Given the description of an element on the screen output the (x, y) to click on. 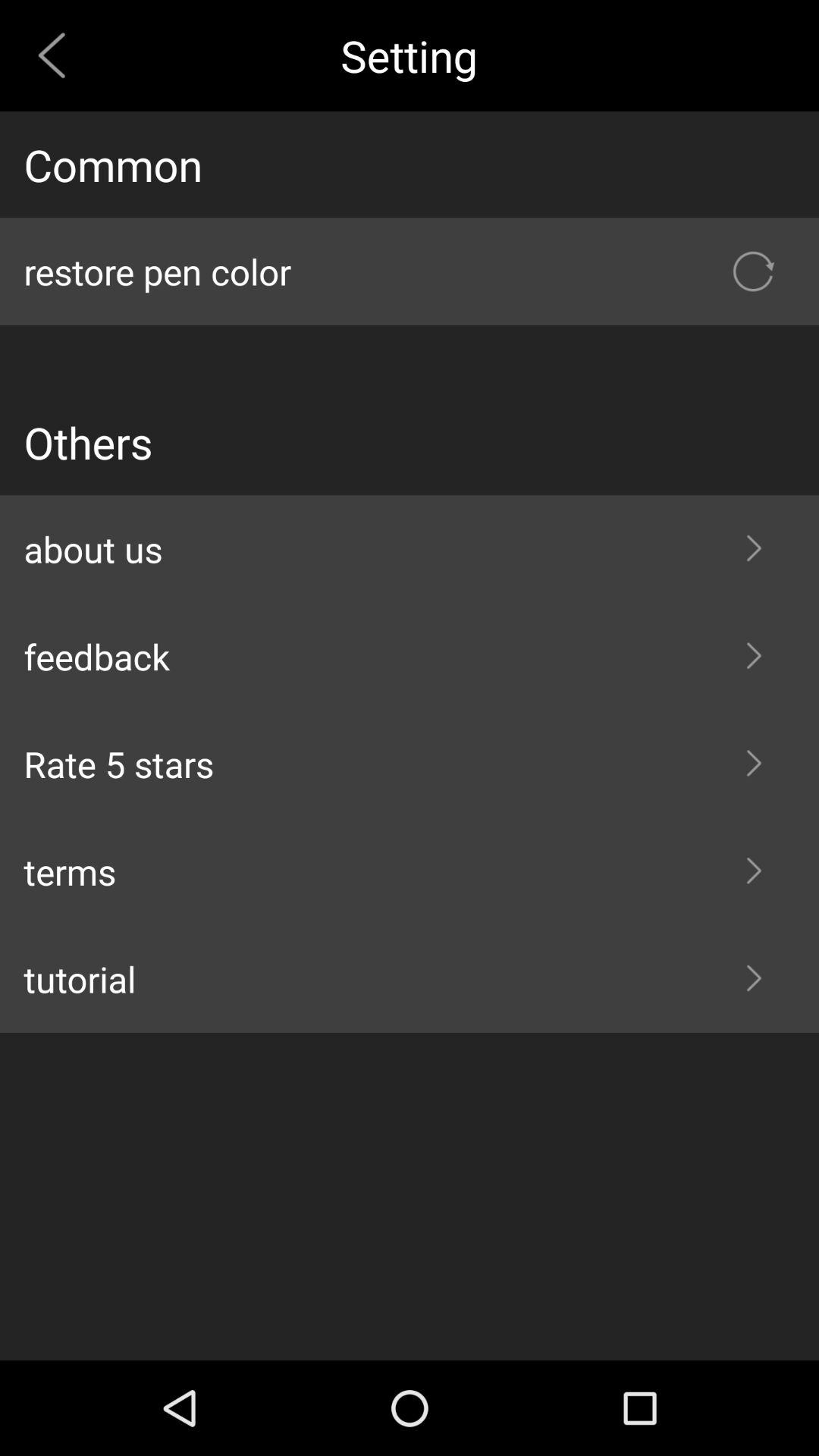
turn on the item below common (409, 271)
